Given the description of an element on the screen output the (x, y) to click on. 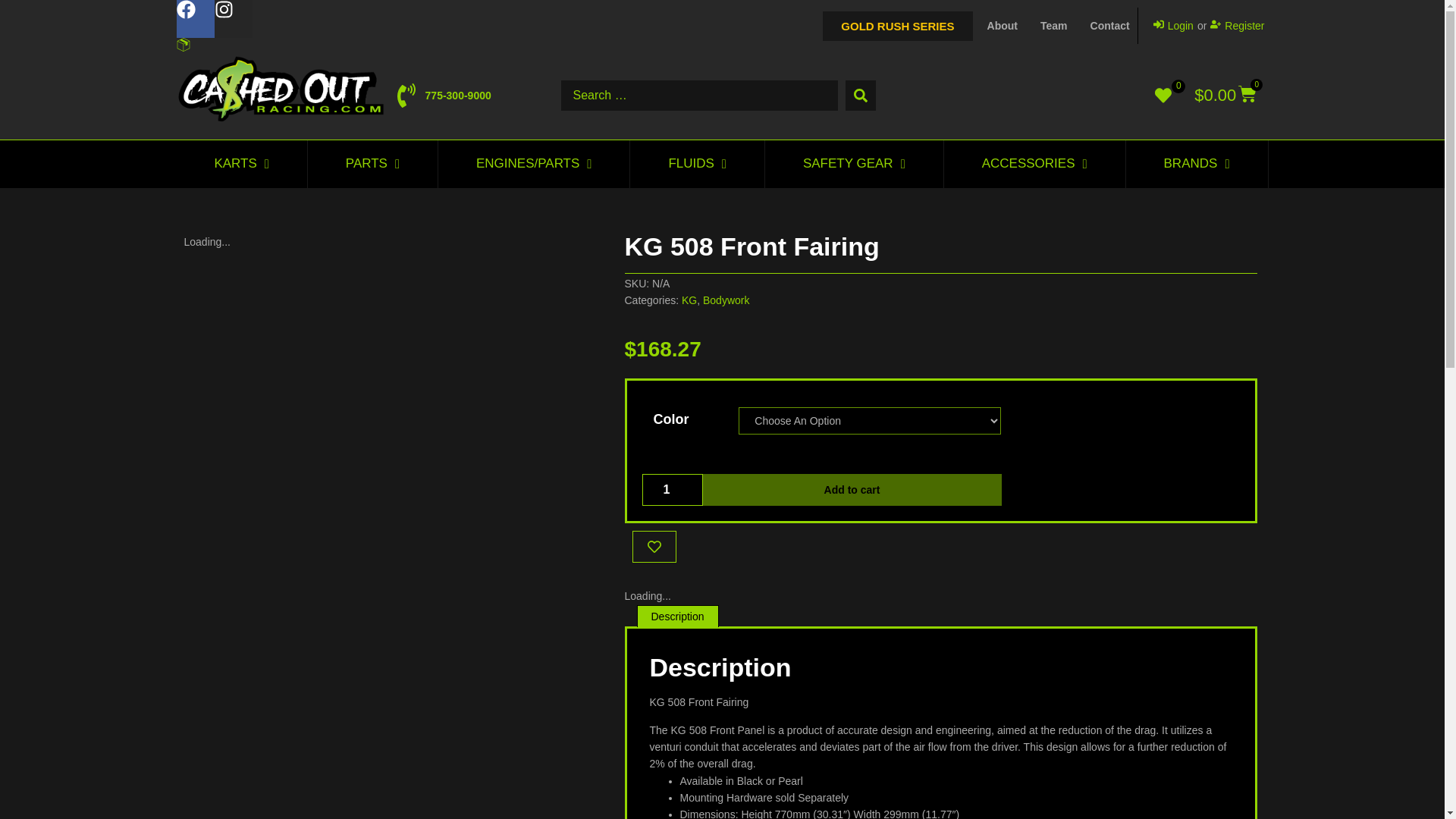
KARTS (241, 163)
Contact (1110, 25)
1 (671, 490)
775-300-9000 (441, 95)
PARTS (372, 163)
Register (1236, 25)
Login (1173, 25)
Team (1053, 25)
0 (1166, 95)
GOLD RUSH SERIES (897, 25)
